Given the description of an element on the screen output the (x, y) to click on. 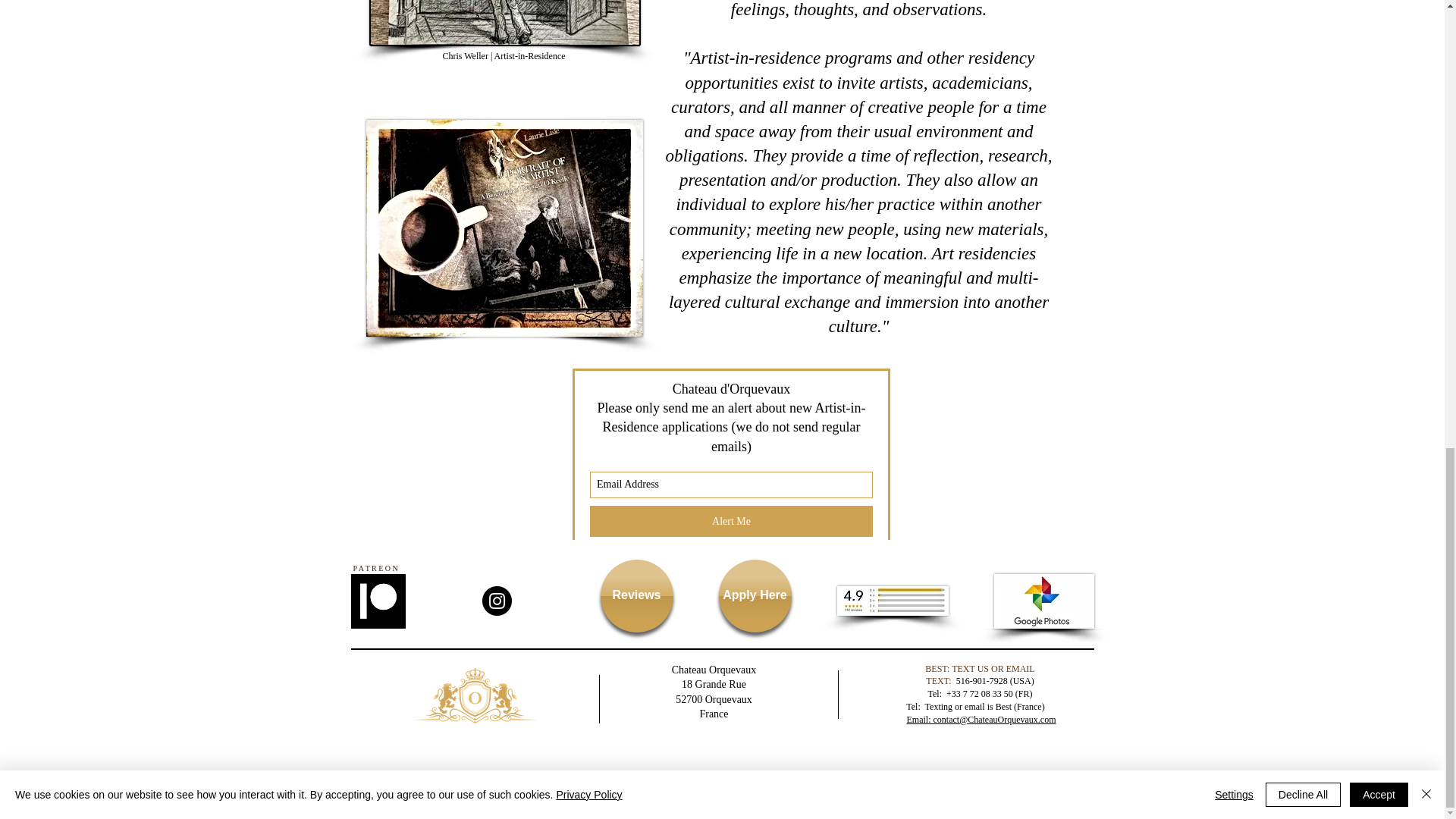
Reviews (635, 595)
Apply Here (755, 595)
Wix Get Subscribers (730, 453)
